Given the description of an element on the screen output the (x, y) to click on. 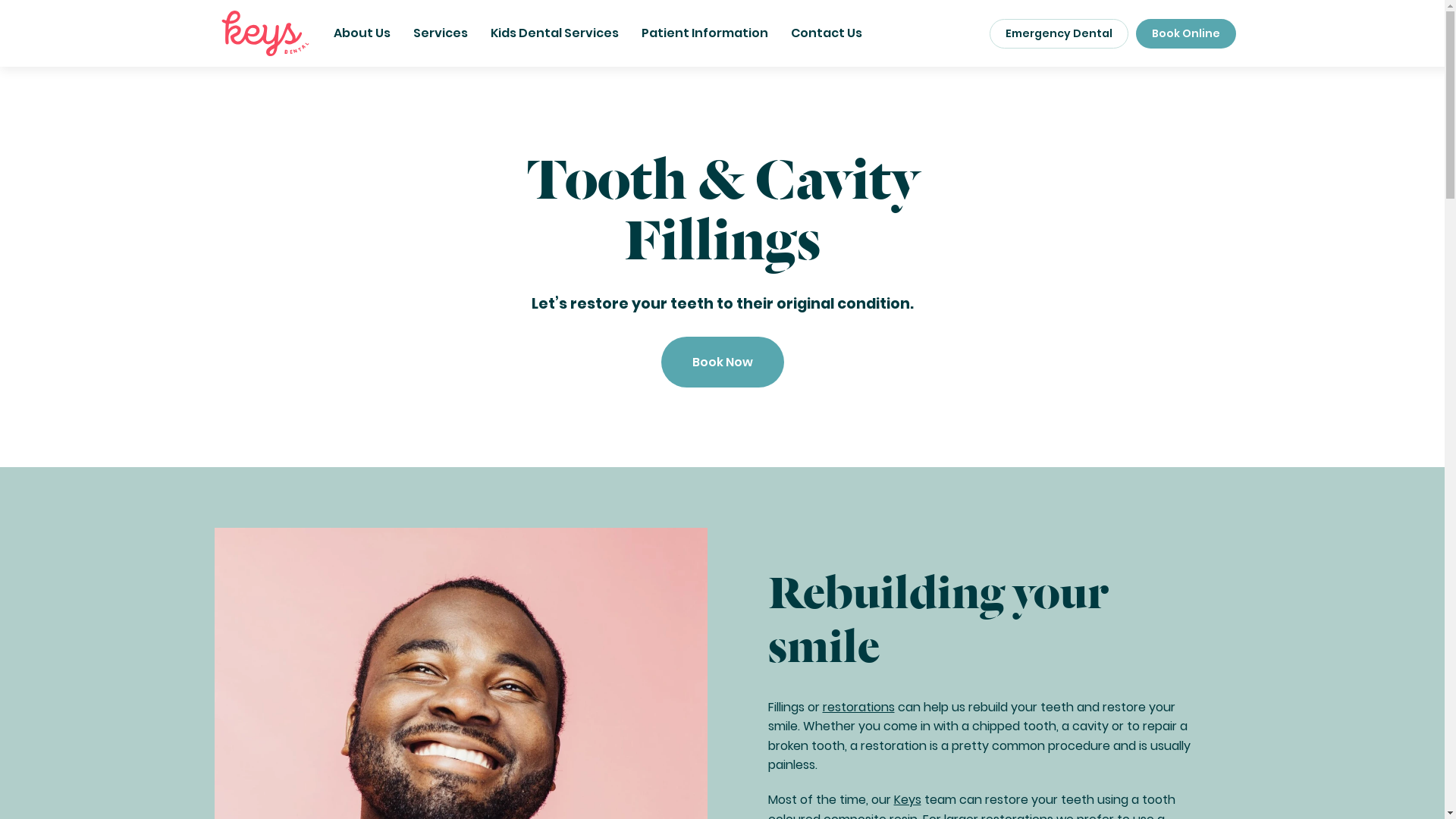
Book Now Element type: text (722, 362)
About Us Element type: text (361, 33)
Emergency Dental Element type: text (1058, 32)
Book Online Element type: text (1185, 32)
restorations Element type: text (858, 706)
Contact Us Element type: text (826, 33)
Kids Dental Services Element type: text (554, 33)
Patient Information Element type: text (704, 33)
Keys Element type: text (906, 799)
